Given the description of an element on the screen output the (x, y) to click on. 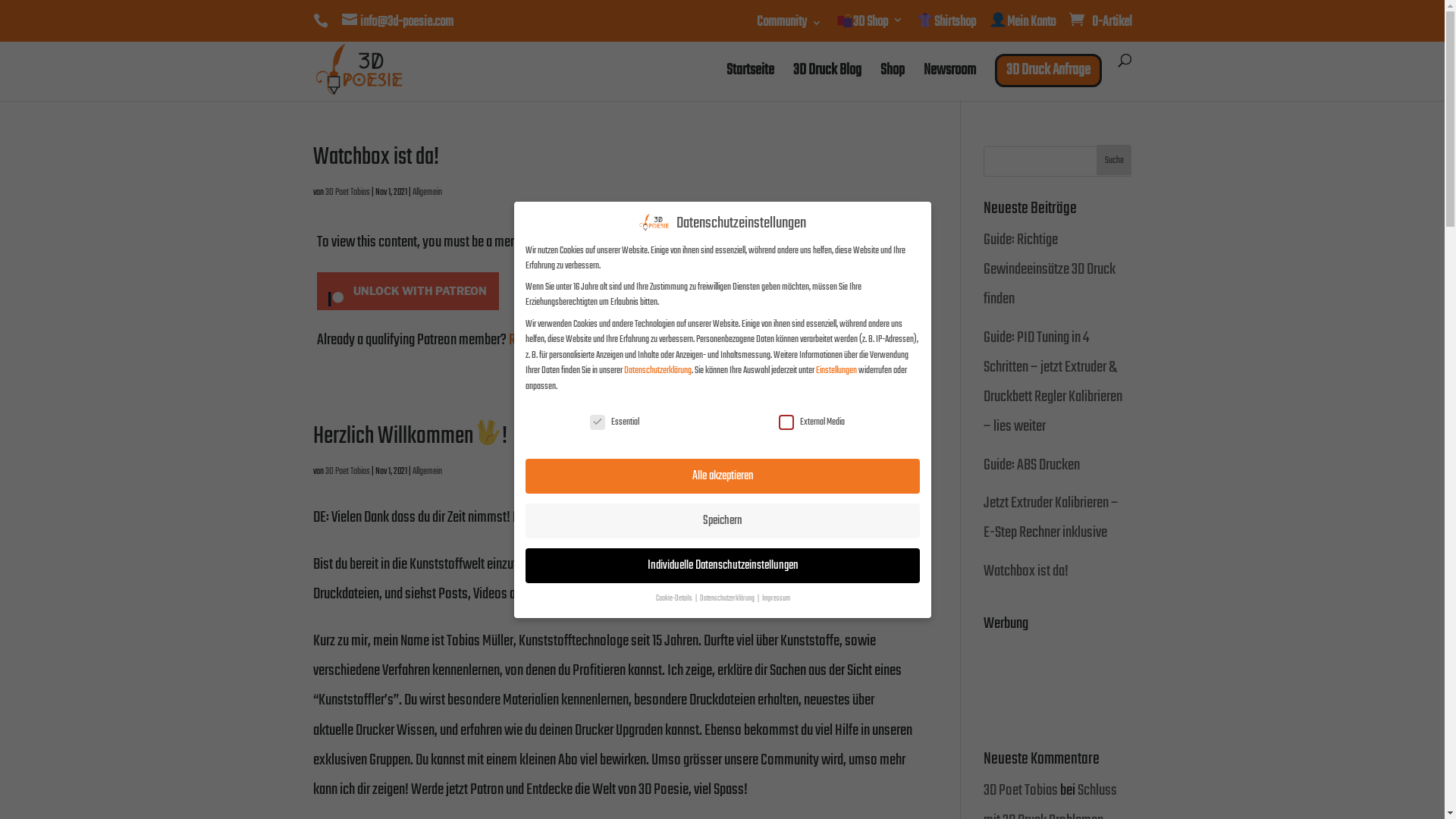
Guide: ABS Drucken Element type: text (1031, 464)
Startseite Element type: text (750, 82)
Watchbox ist da! Element type: text (375, 156)
Alle akzeptieren Element type: text (721, 475)
3D Druck Blog Element type: text (827, 82)
Herzlich Willkommen! Element type: text (409, 436)
Speichern Element type: text (721, 520)
Impressum Element type: text (775, 598)
Shop Element type: text (891, 82)
3D Poet Tobias Element type: text (1020, 790)
Suche Element type: text (1114, 159)
Individuelle Datenschutzeinstellungen Element type: text (721, 565)
Mein Konto Element type: text (1022, 26)
Einstellungen Element type: text (835, 370)
Allgemein Element type: text (427, 192)
3D Poet Tobias Element type: text (346, 192)
3D Druck Anfrage Element type: text (1047, 70)
Refresh Element type: text (527, 339)
3D Shop Element type: text (869, 26)
0-Artikel Element type: text (1098, 22)
Watchbox ist da! Element type: text (1025, 570)
Shirtshop Element type: text (945, 26)
Cookie-Details Element type: text (674, 598)
3D Poet Tobias Element type: text (346, 471)
Allgemein Element type: text (427, 471)
Community Element type: text (789, 28)
info@3d-poesie.com Element type: text (396, 22)
Newsroom Element type: text (949, 82)
Tobias's Patreon Element type: text (592, 241)
UNLOCK WITH PATREON Element type: text (407, 291)
